Given the description of an element on the screen output the (x, y) to click on. 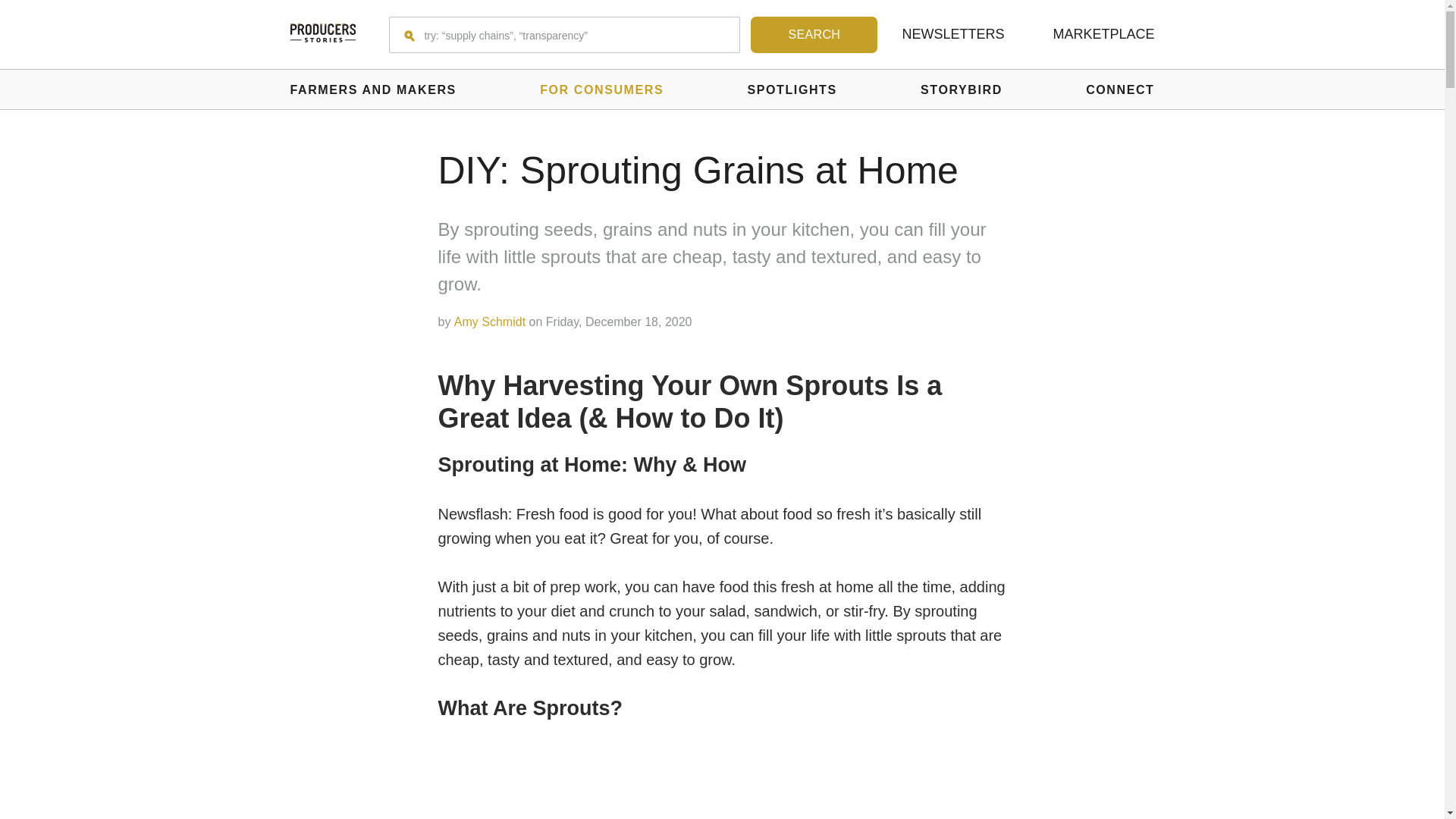
SPOTLIGHTS (792, 89)
Amy Schmidt (489, 321)
FARMERS AND MAKERS (372, 89)
NEWSLETTERS (952, 32)
FOR CONSUMERS (601, 89)
SEARCH (814, 34)
Home (322, 34)
STORYBIRD (961, 89)
MARKETPLACE (1103, 32)
CONNECT (1120, 89)
